Given the description of an element on the screen output the (x, y) to click on. 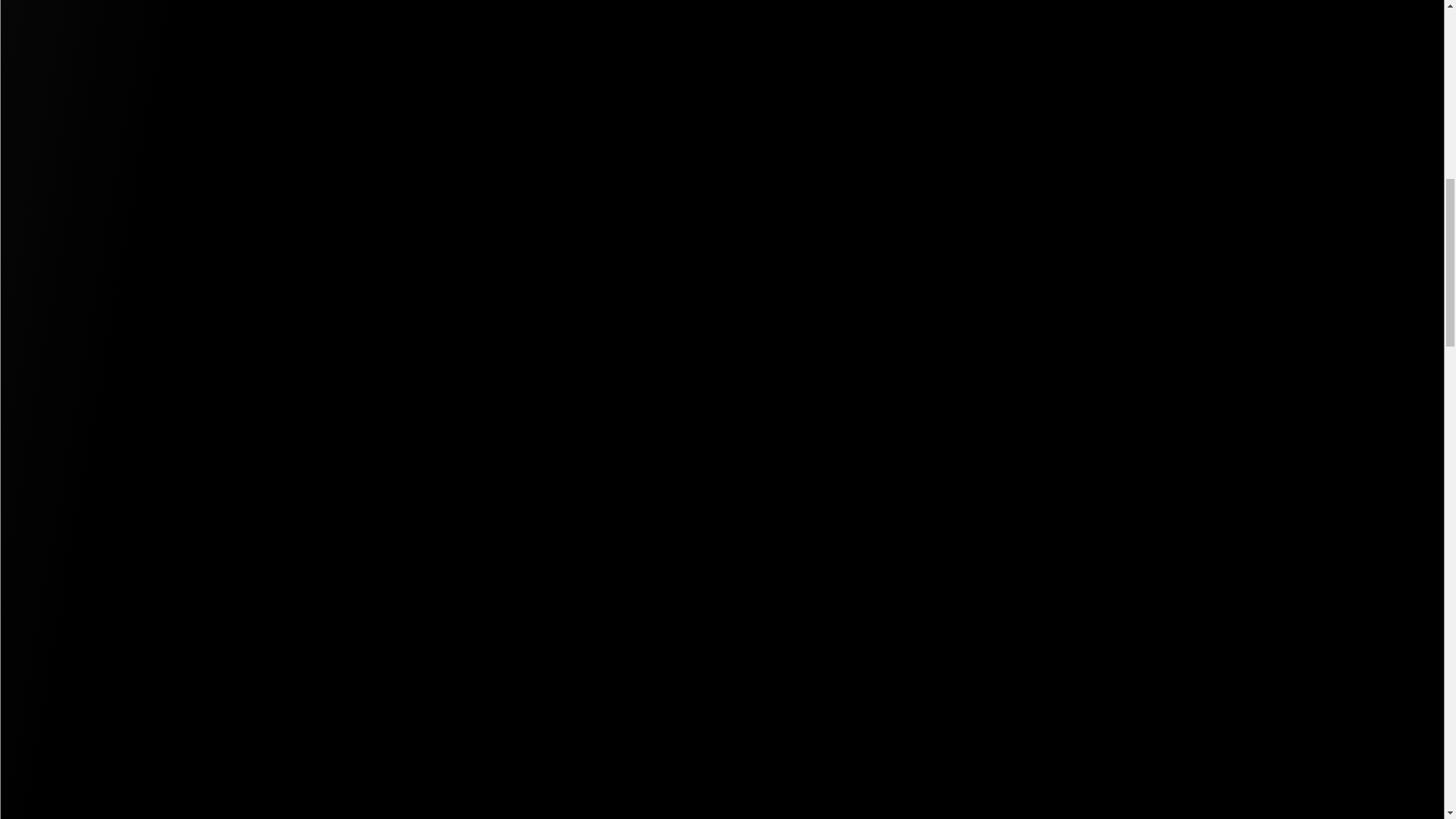
ICON-HAMBURGER (130, 47)
